Given the description of an element on the screen output the (x, y) to click on. 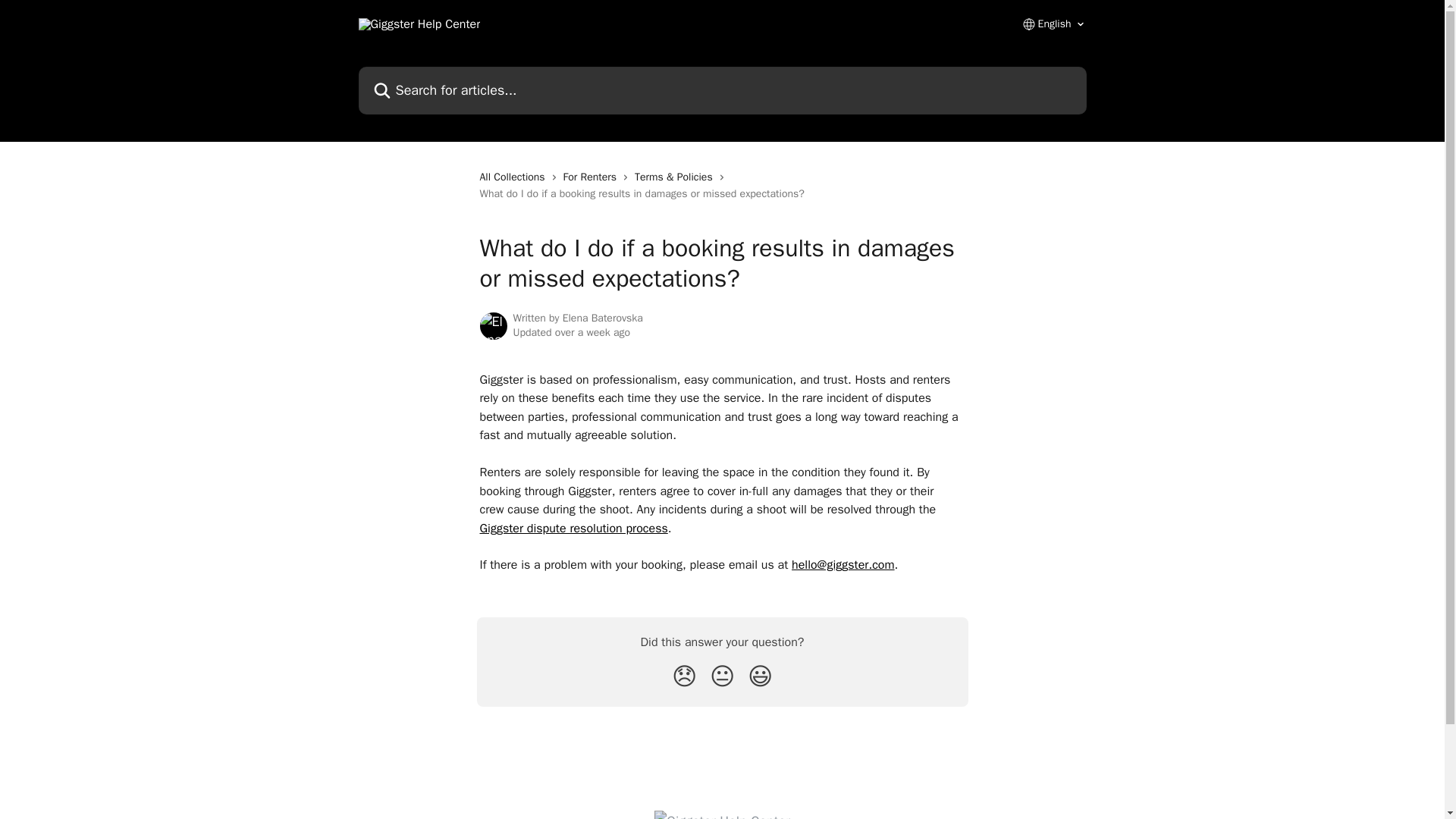
Giggster dispute resolution process (572, 528)
All Collections (514, 176)
For Renters (593, 176)
